Given the description of an element on the screen output the (x, y) to click on. 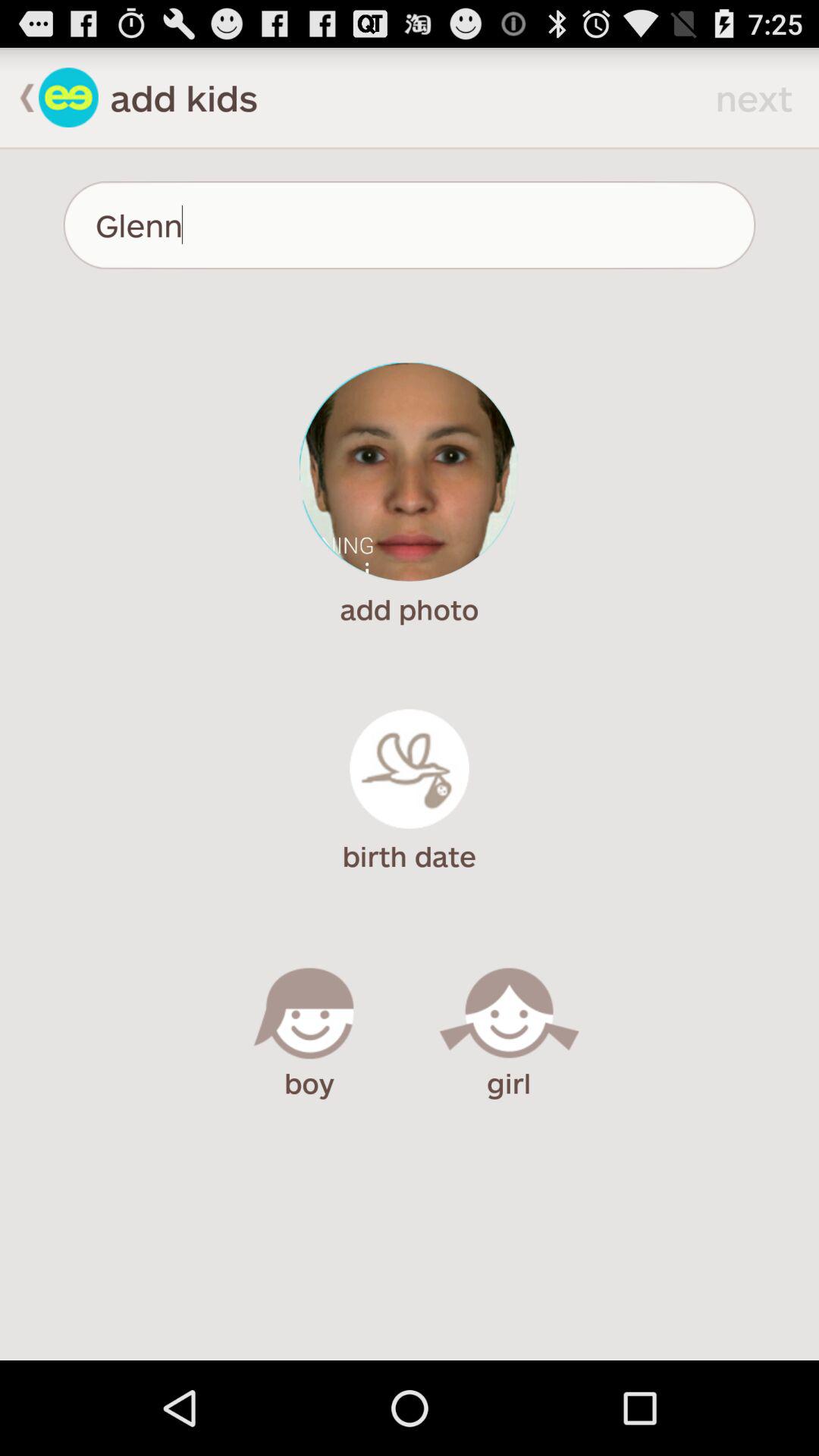
go back (19, 97)
